Given the description of an element on the screen output the (x, y) to click on. 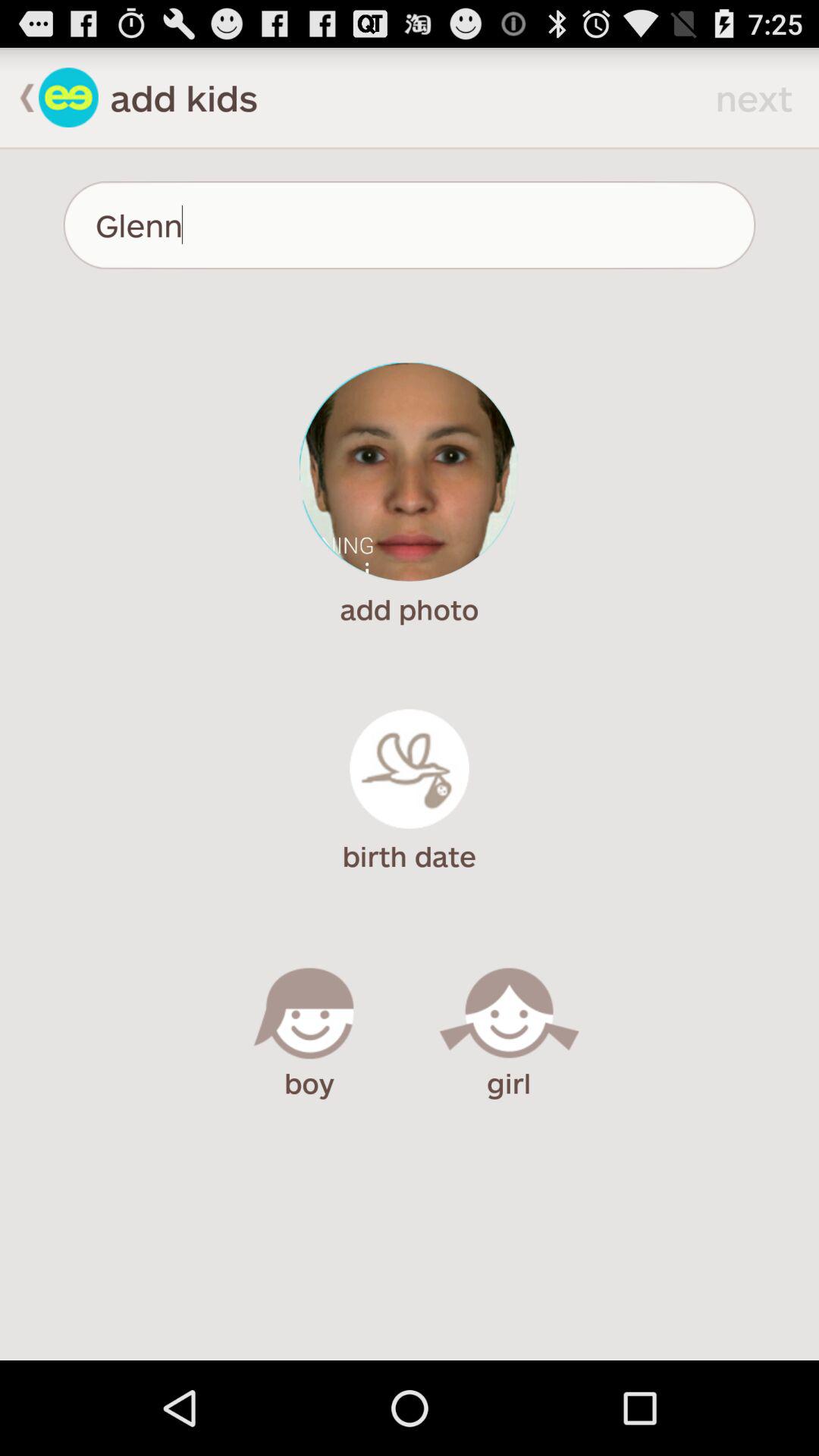
go back (19, 97)
